Given the description of an element on the screen output the (x, y) to click on. 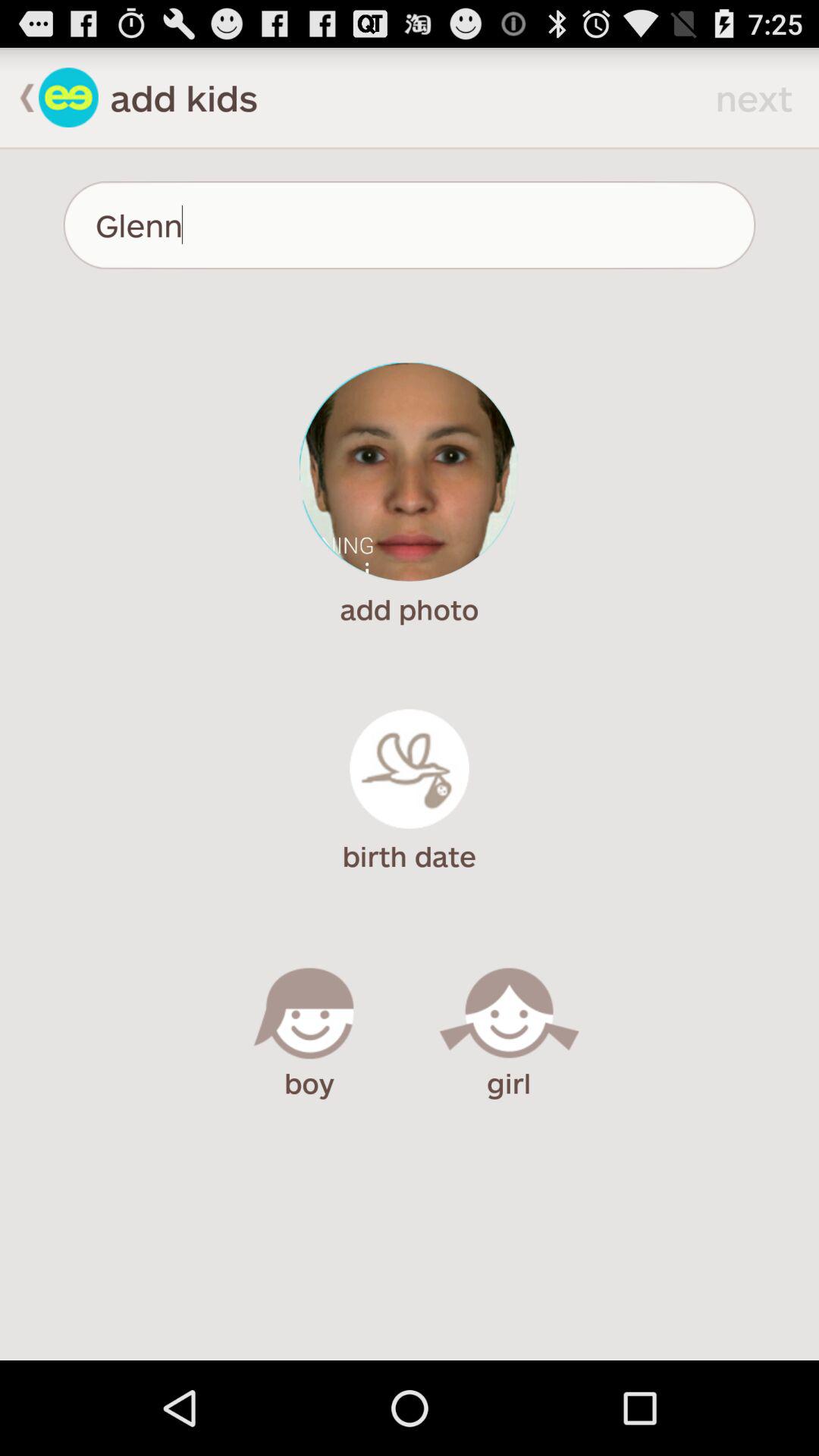
go back (19, 97)
